Given the description of an element on the screen output the (x, y) to click on. 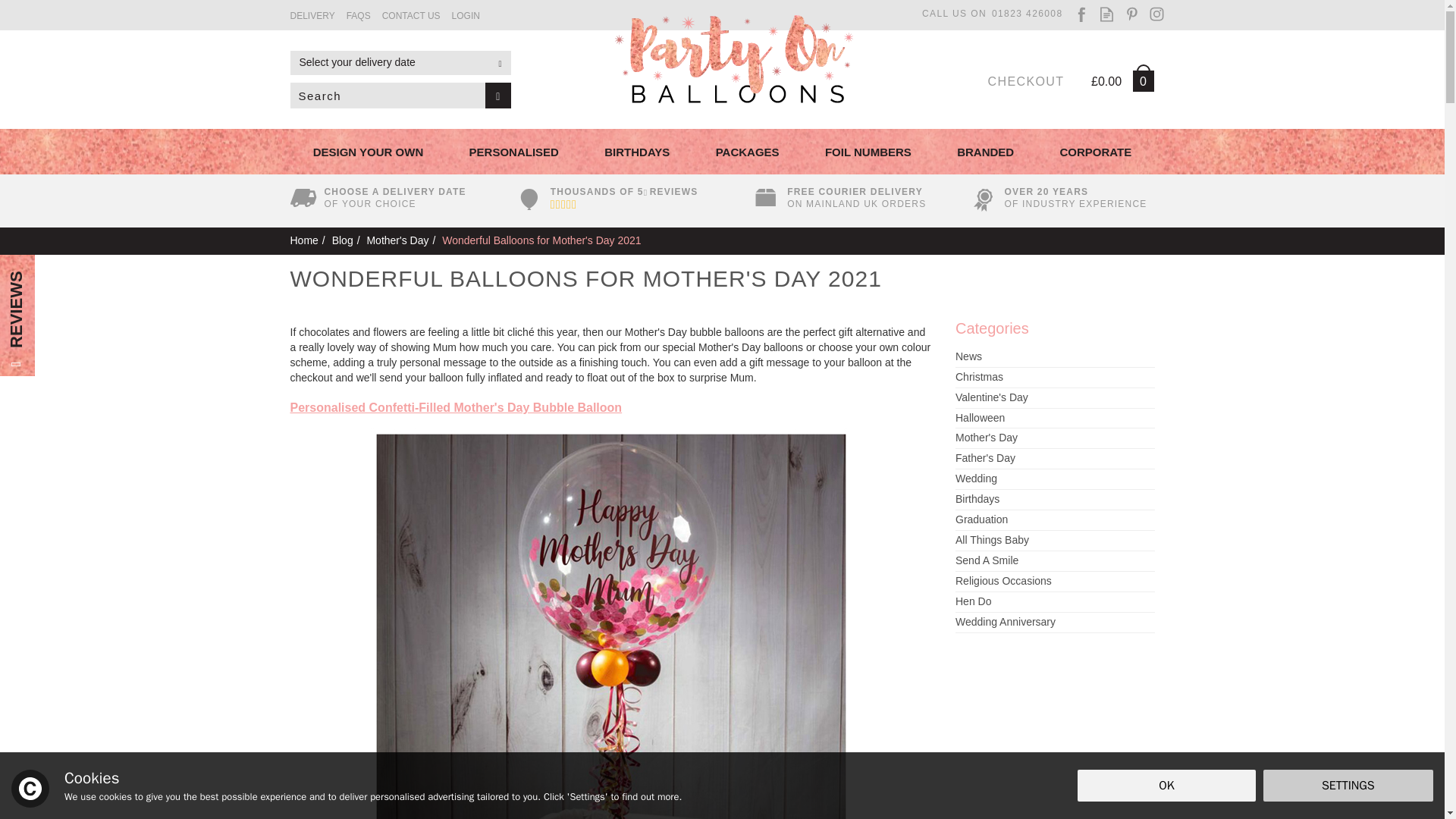
Christmas (1054, 377)
Valentine's Day (1054, 398)
Hen Do (1054, 602)
Follow us on Instagram (1156, 13)
News (1054, 357)
Mother's Day (1054, 438)
Father's Day (1054, 458)
Blog (342, 240)
Personalised Confetti-Filled Mother's Day Bubble Balloon (455, 407)
Religious Occasions (1054, 581)
Follow us on Pinterest (1131, 13)
Wedding Anniversary (1054, 622)
Mother's Day (397, 240)
Home (303, 240)
All Things Baby (1054, 540)
